Given the description of an element on the screen output the (x, y) to click on. 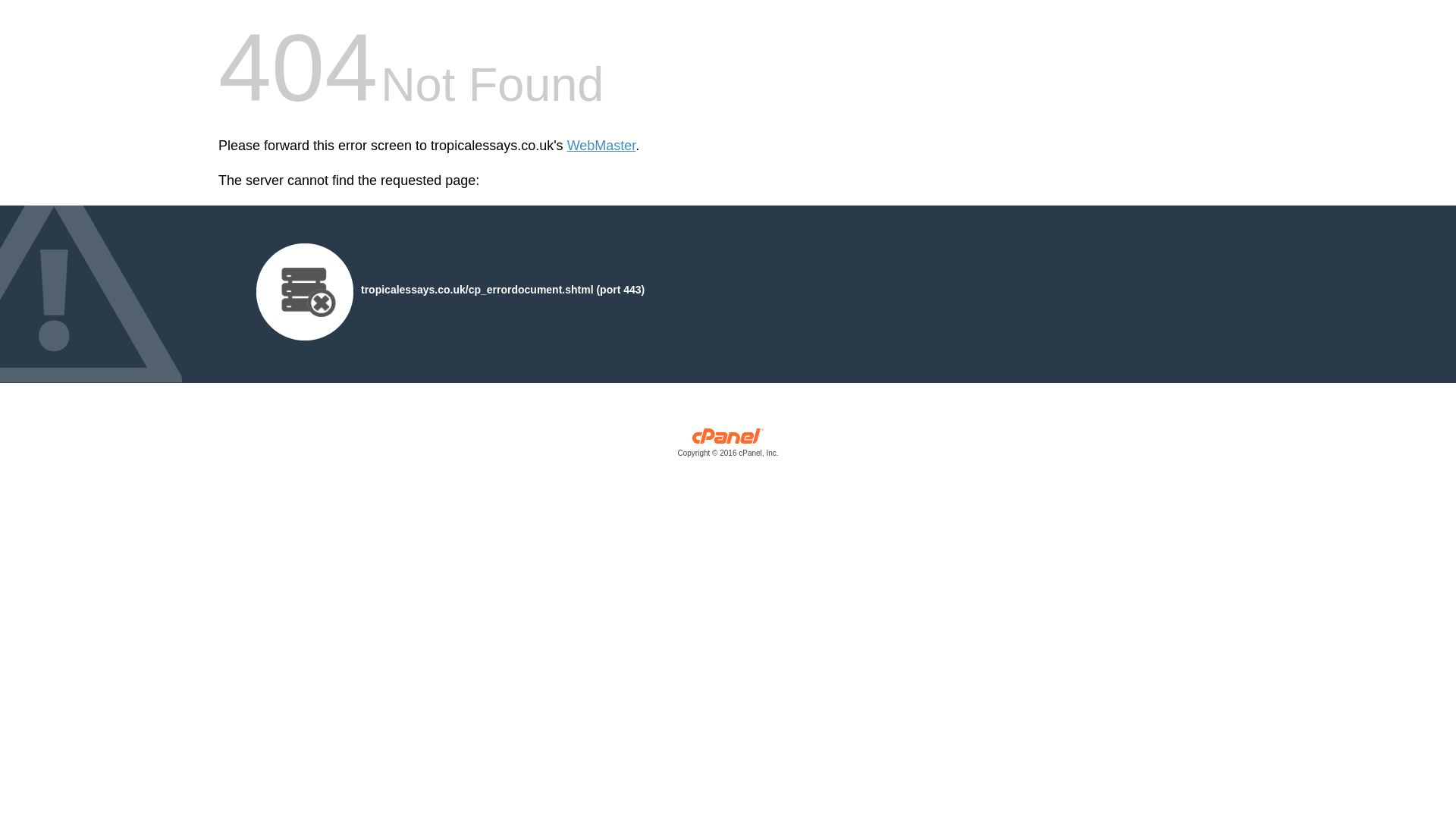
WebMaster (601, 145)
cPanel, Inc. (727, 446)
